Given the description of an element on the screen output the (x, y) to click on. 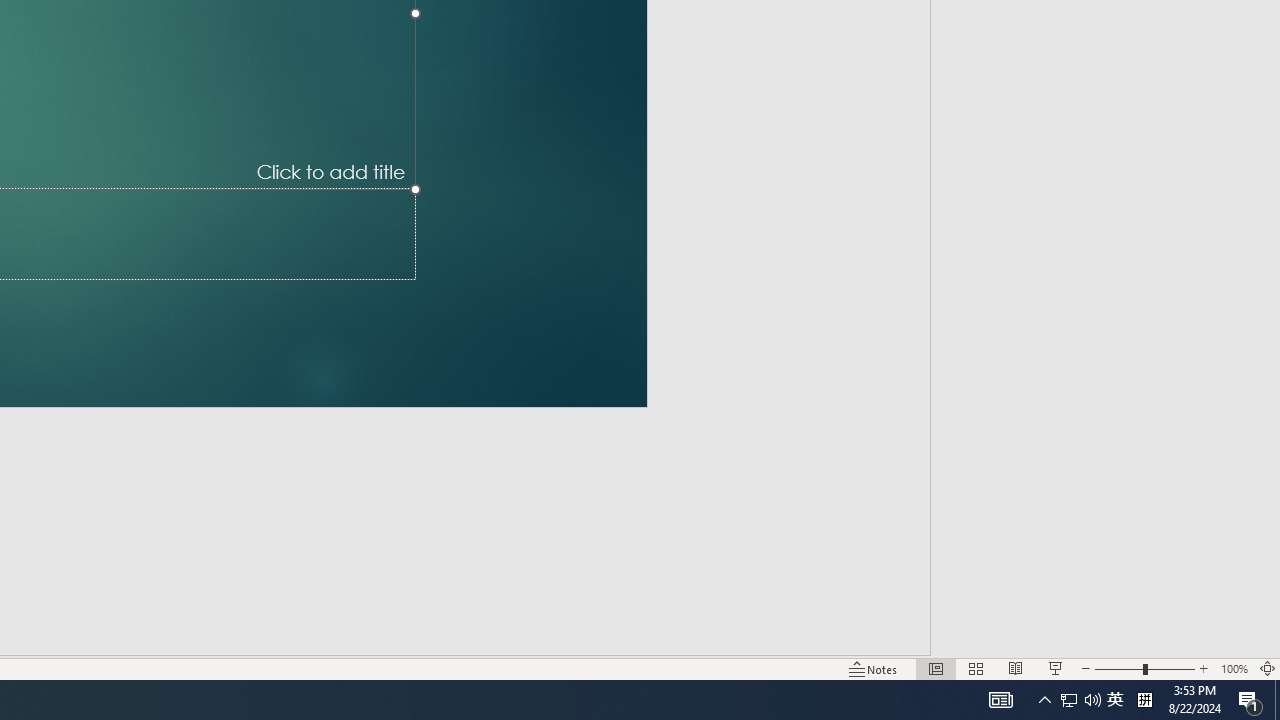
Zoom 100% (1234, 668)
